Given the description of an element on the screen output the (x, y) to click on. 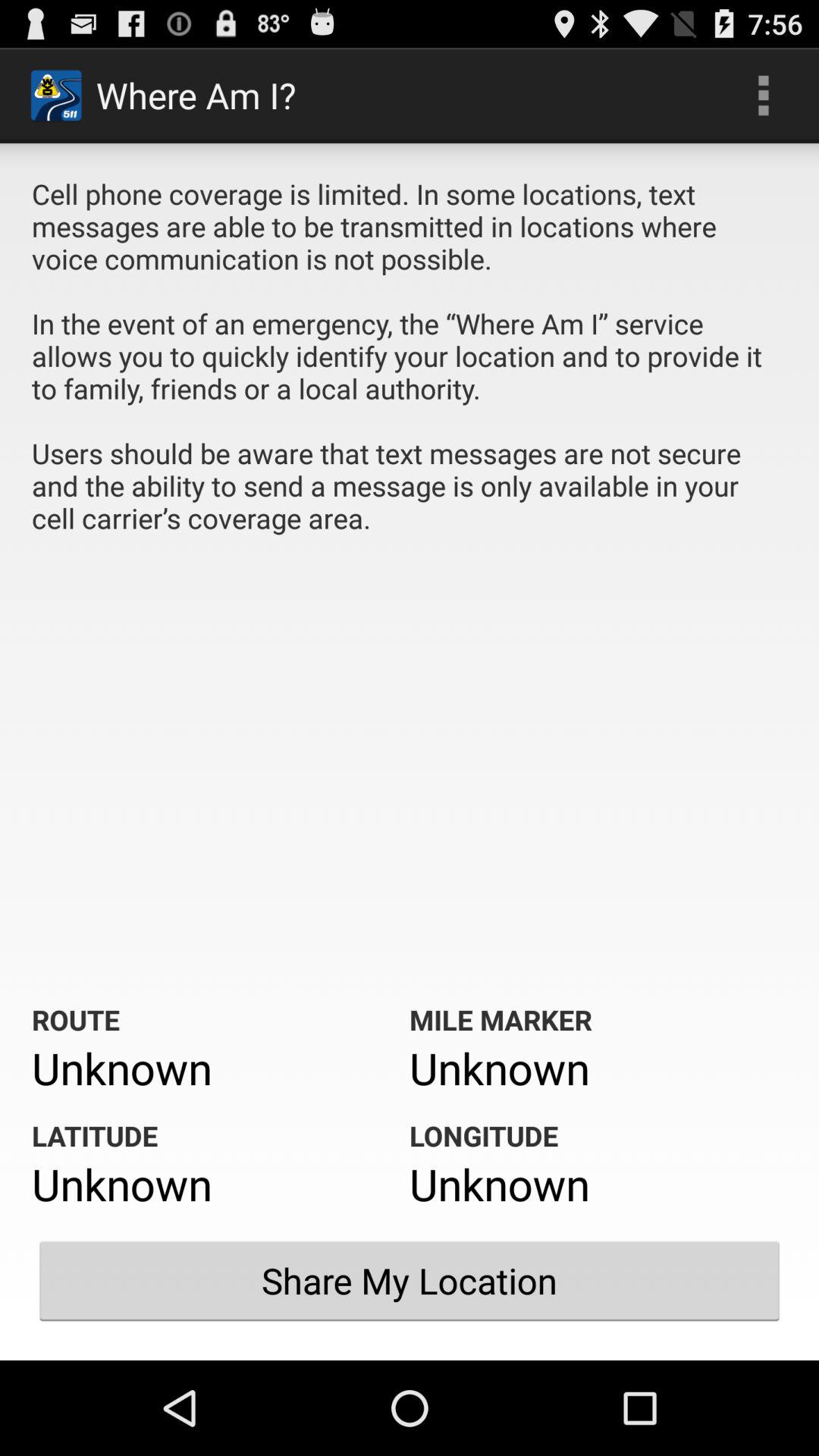
click the button in bottom of the page (409, 1281)
